Given the description of an element on the screen output the (x, y) to click on. 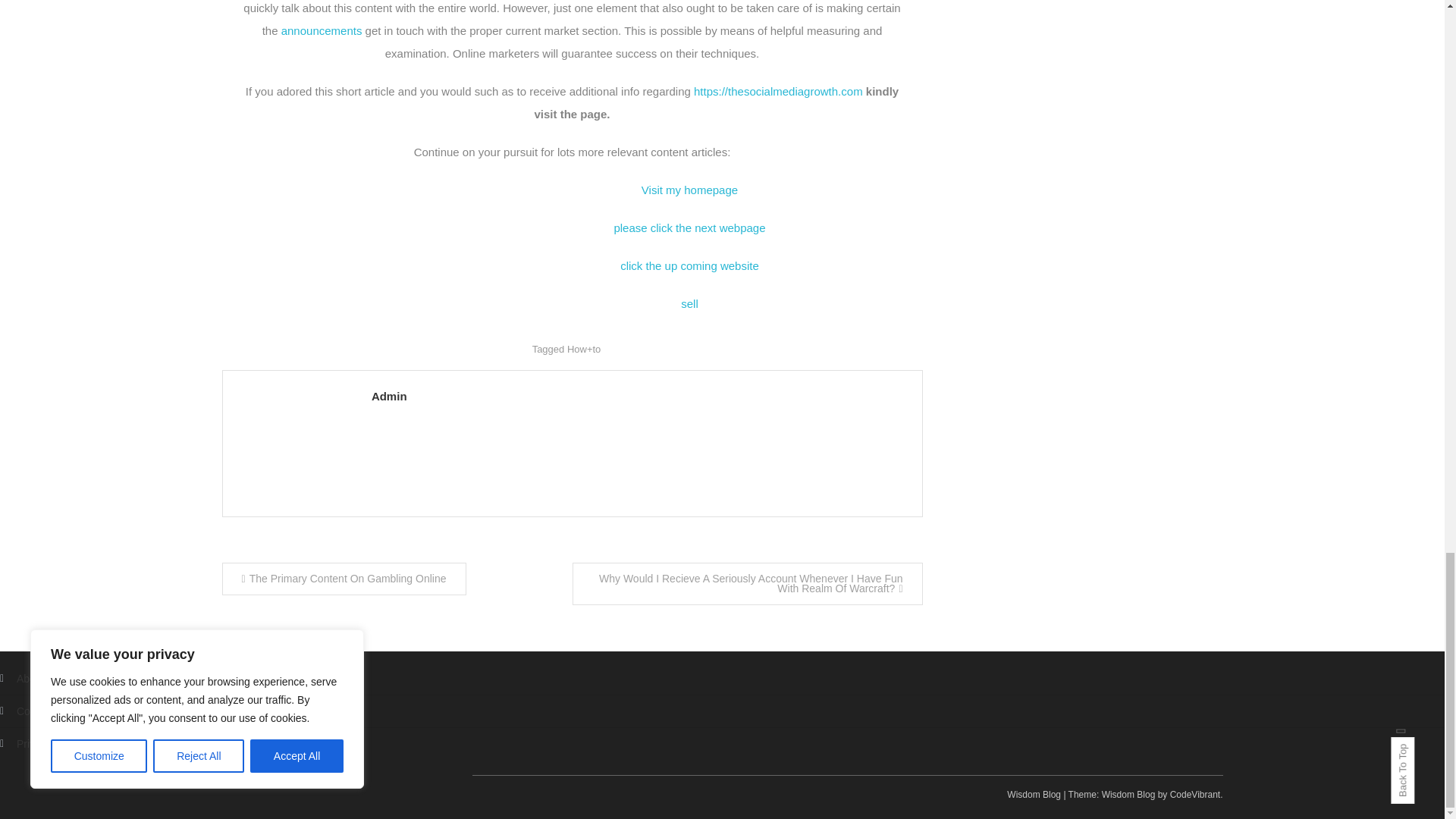
please click the next webpage (688, 227)
The Primary Content On Gambling Online (343, 578)
Visit my homepage (690, 189)
Admin (639, 395)
sell (689, 303)
announcements (321, 30)
click the up coming website (689, 265)
